Given the description of an element on the screen output the (x, y) to click on. 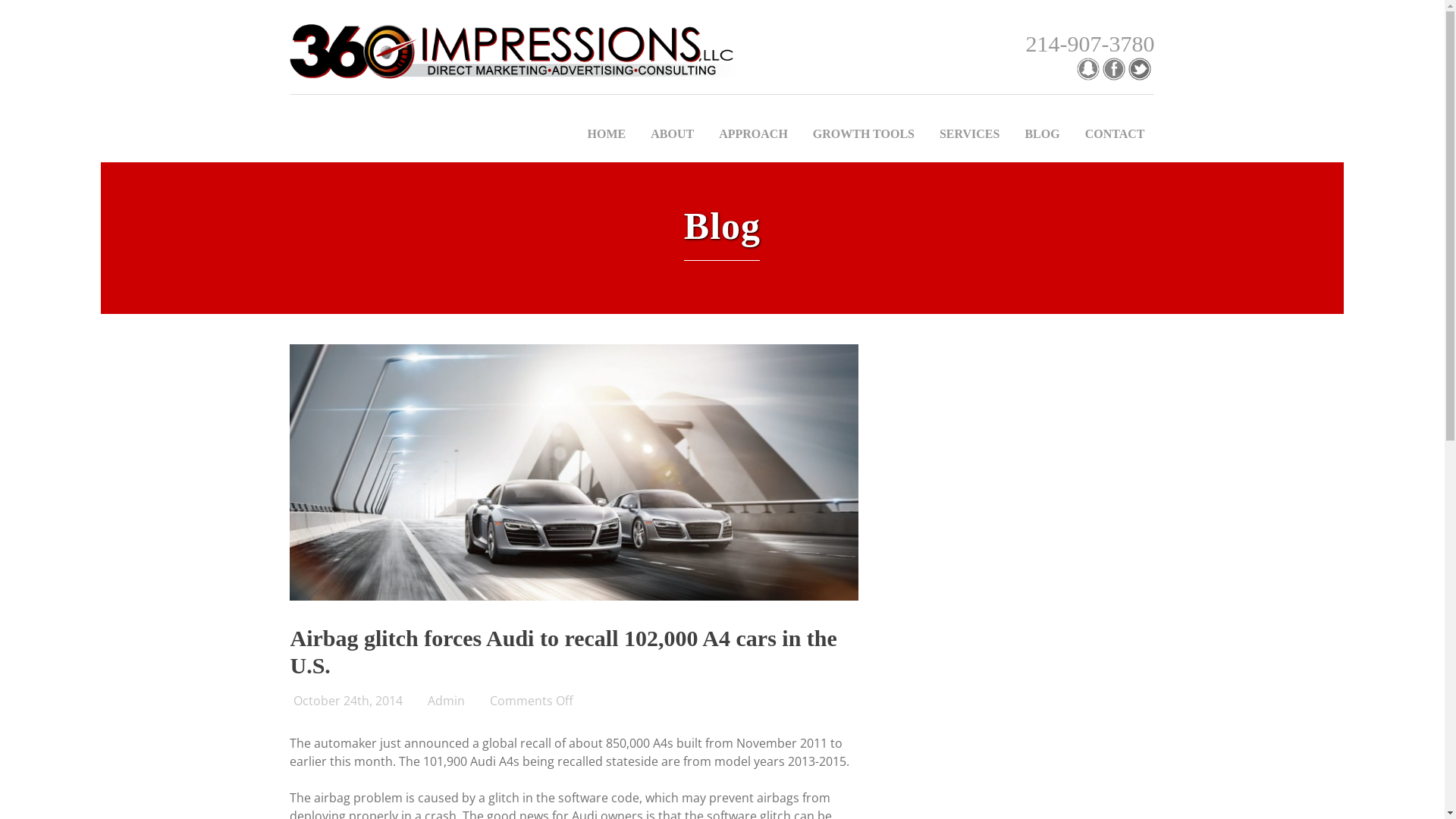
CONTACT Element type: text (1115, 134)
ABOUT Element type: text (671, 134)
HOME Element type: text (606, 134)
SERVICES Element type: text (969, 134)
Submit message Element type: text (870, 643)
GROWTH TOOLS Element type: text (863, 134)
APPROACH Element type: text (753, 134)
BLOG Element type: text (1041, 134)
